Given the description of an element on the screen output the (x, y) to click on. 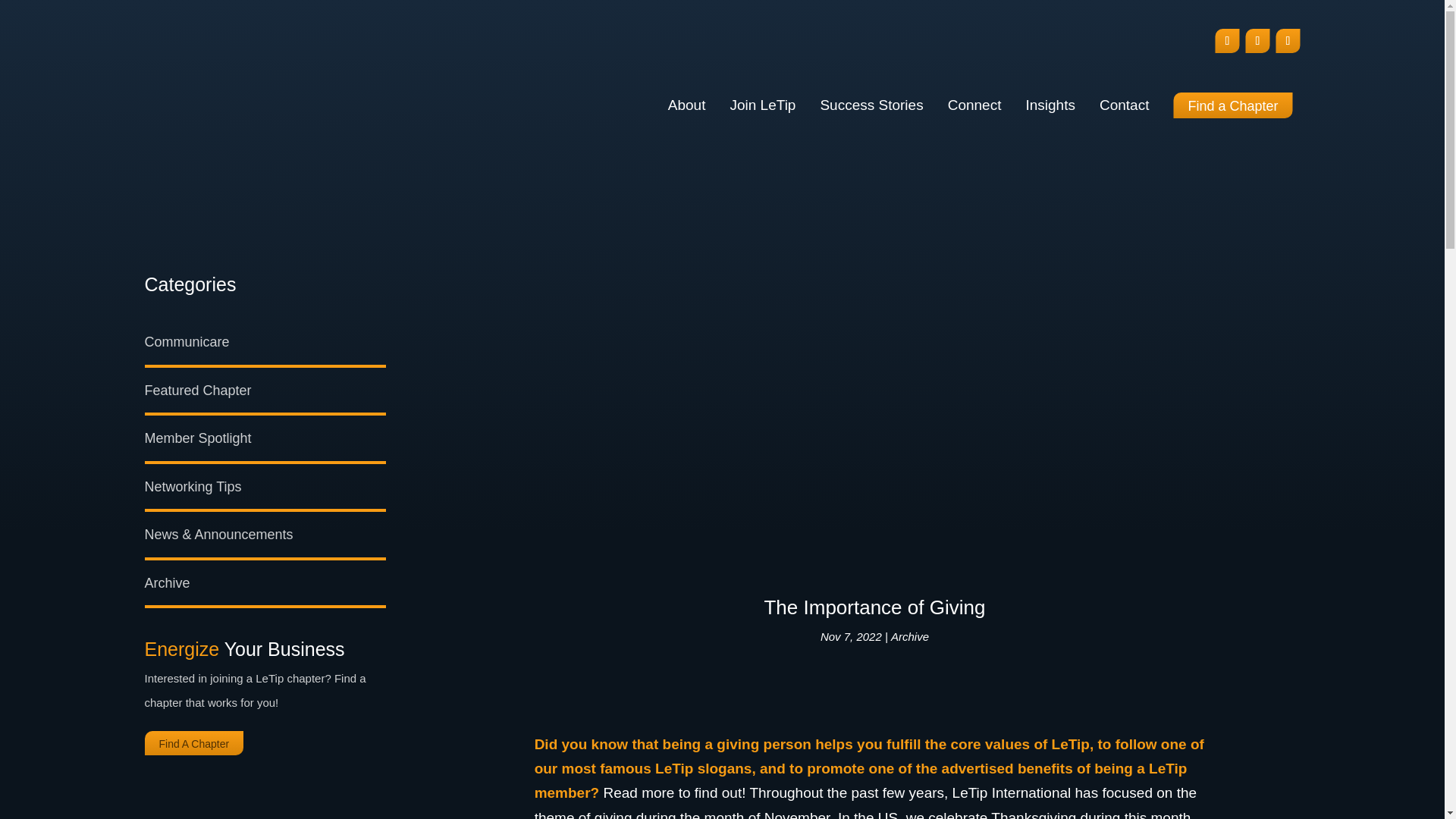
Join LeTip (761, 104)
Communicare (186, 341)
Follow on Instagram (1256, 40)
Archive (166, 581)
Connect (974, 104)
Insights (1049, 104)
Member Spotlight (197, 437)
Contact (1123, 104)
Find A Chapter (193, 743)
Archive (909, 635)
